Given the description of an element on the screen output the (x, y) to click on. 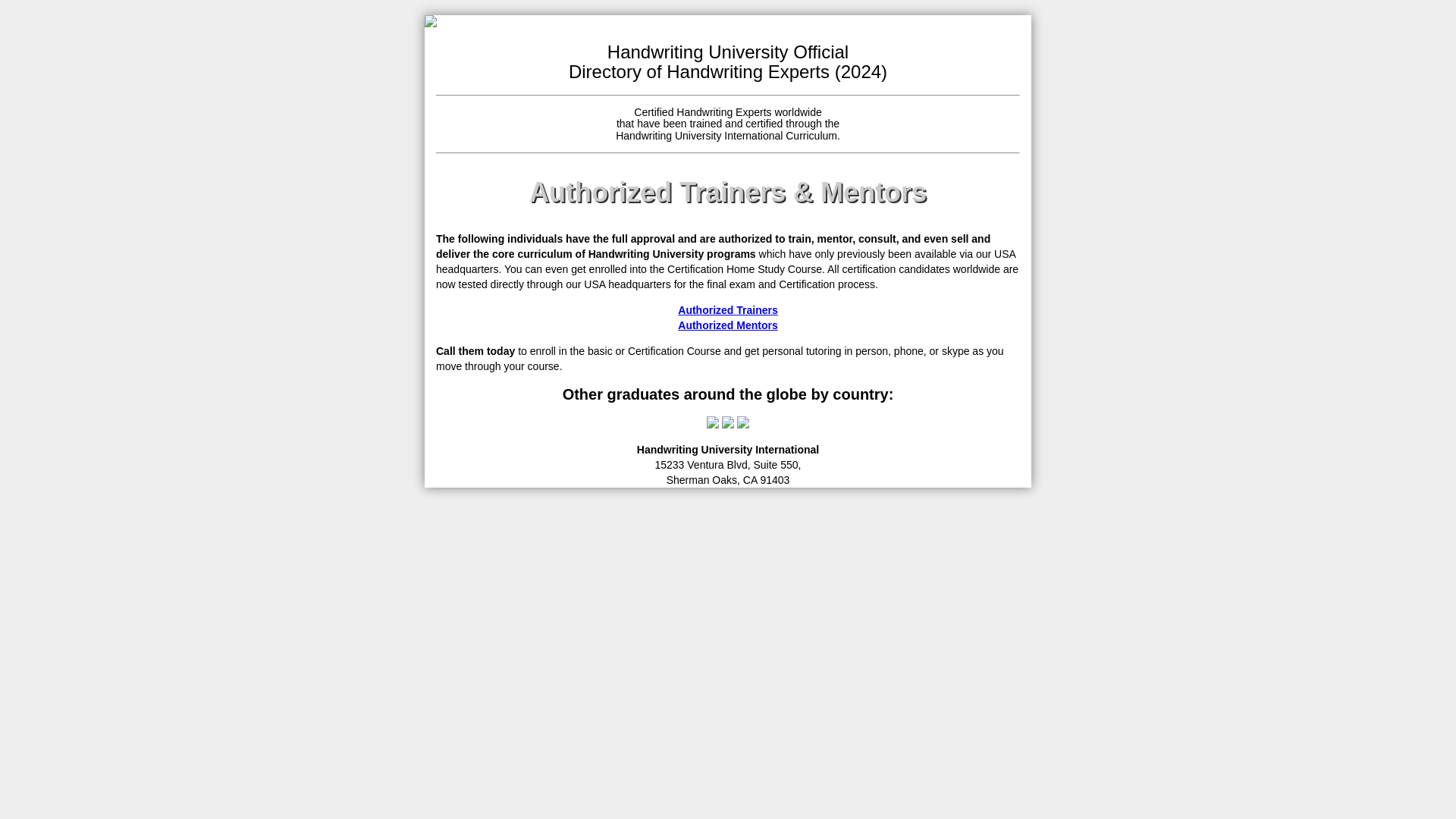
Authorized Trainers (727, 309)
Authorized Mentors (727, 325)
